Given the description of an element on the screen output the (x, y) to click on. 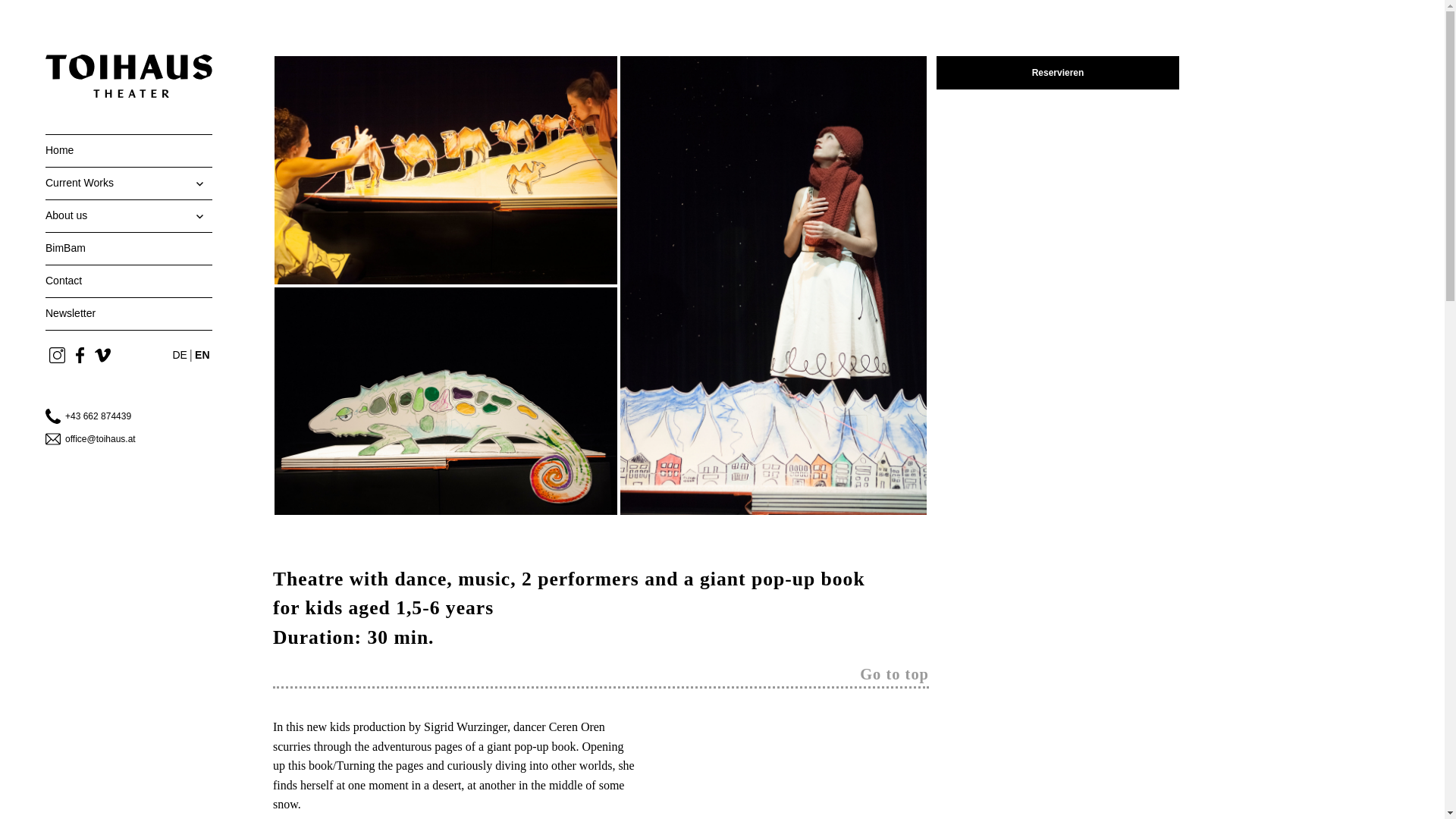
Current Works (128, 183)
Home (128, 151)
DE (179, 355)
Reservieren (1057, 72)
About us (128, 215)
Instagram (56, 355)
Go to top (894, 675)
BimBam (128, 248)
Expand child menu (195, 215)
Facebook (79, 355)
Vimeo (101, 355)
EN (202, 355)
Expand child menu (195, 183)
Contact (128, 281)
